Given the description of an element on the screen output the (x, y) to click on. 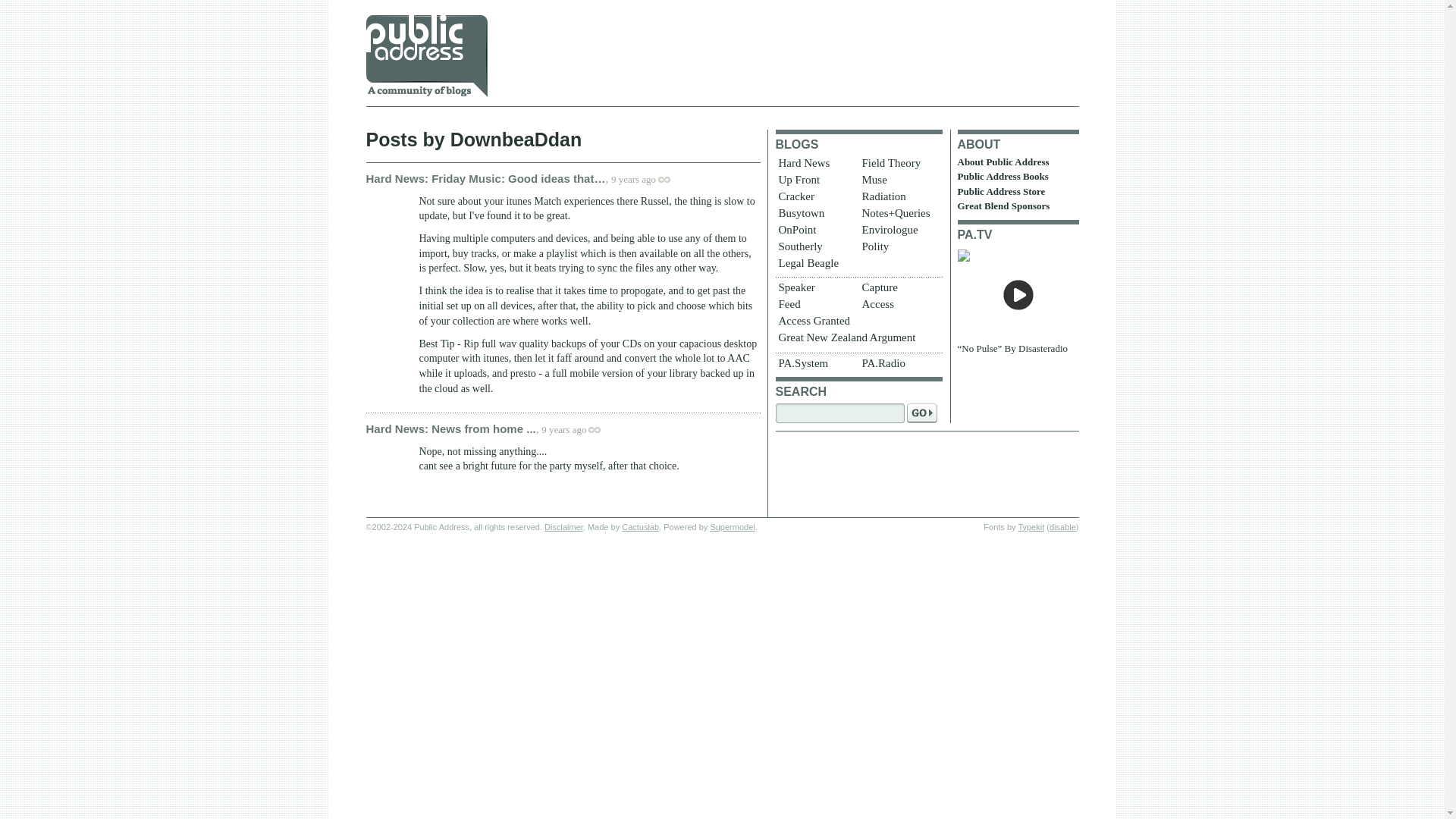
Access (899, 305)
Busytown (815, 214)
PA.TV (973, 234)
Disclaimer (563, 526)
Great New Zealand Argument (856, 338)
Public Address, a community of blogs (425, 56)
Speaker (815, 288)
OnPoint (815, 230)
Cactuslab (640, 526)
About Public Address (1002, 161)
